Given the description of an element on the screen output the (x, y) to click on. 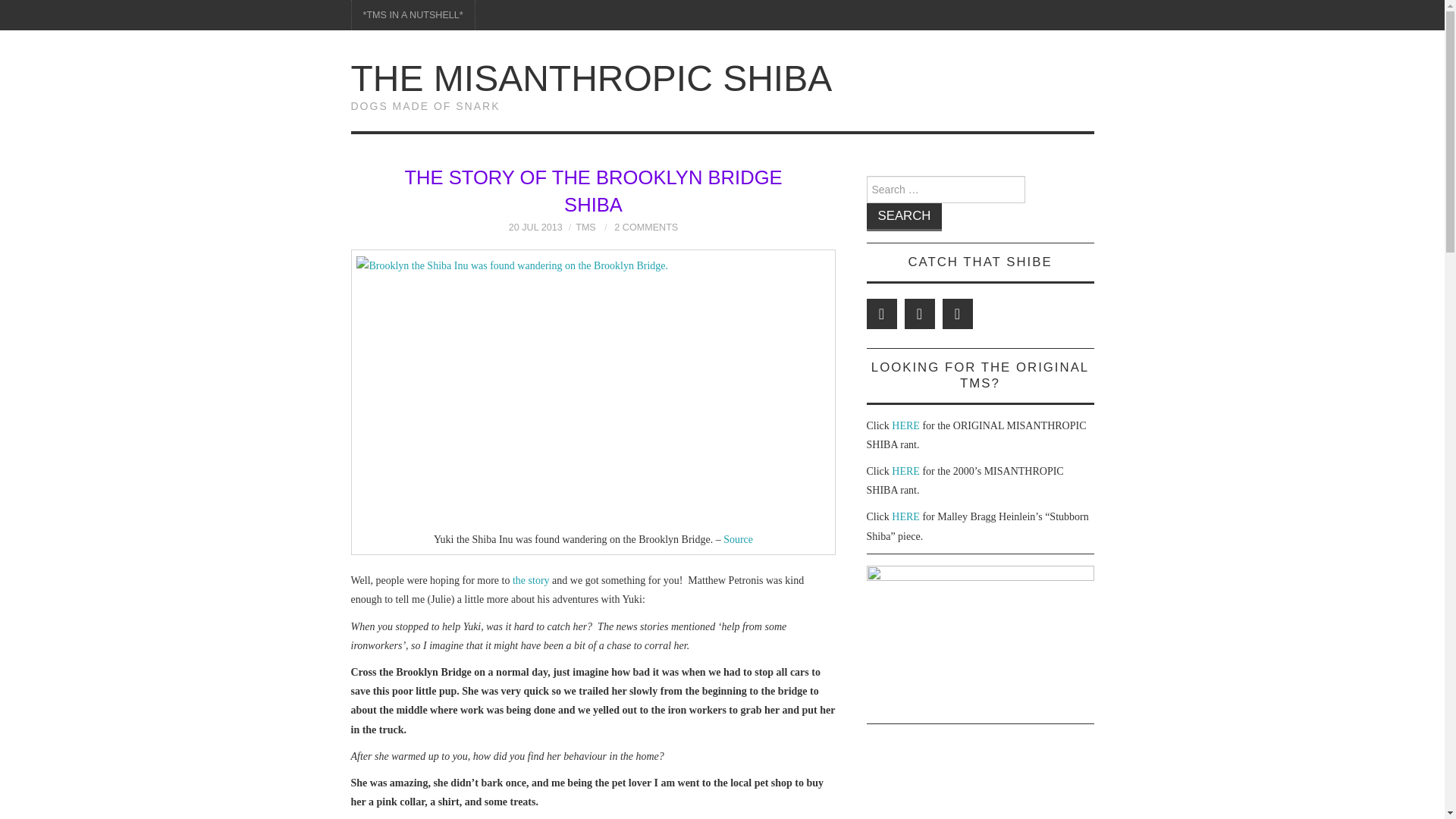
Instagram (957, 313)
Twitter (881, 313)
THE MISANTHROPIC SHIBA (590, 78)
HERE (905, 425)
Dog found wandering Brooklyn Bridge (737, 539)
Facebook (919, 313)
the story (531, 580)
Search (904, 216)
Search for: (945, 189)
20 JUL 2013 (535, 226)
Search (904, 216)
2 COMMENTS (646, 226)
New Yorkers: Know This Shiba?  Yes!  Yes, We Do! (531, 580)
Search (904, 216)
The Misanthropic Shiba (590, 78)
